Given the description of an element on the screen output the (x, y) to click on. 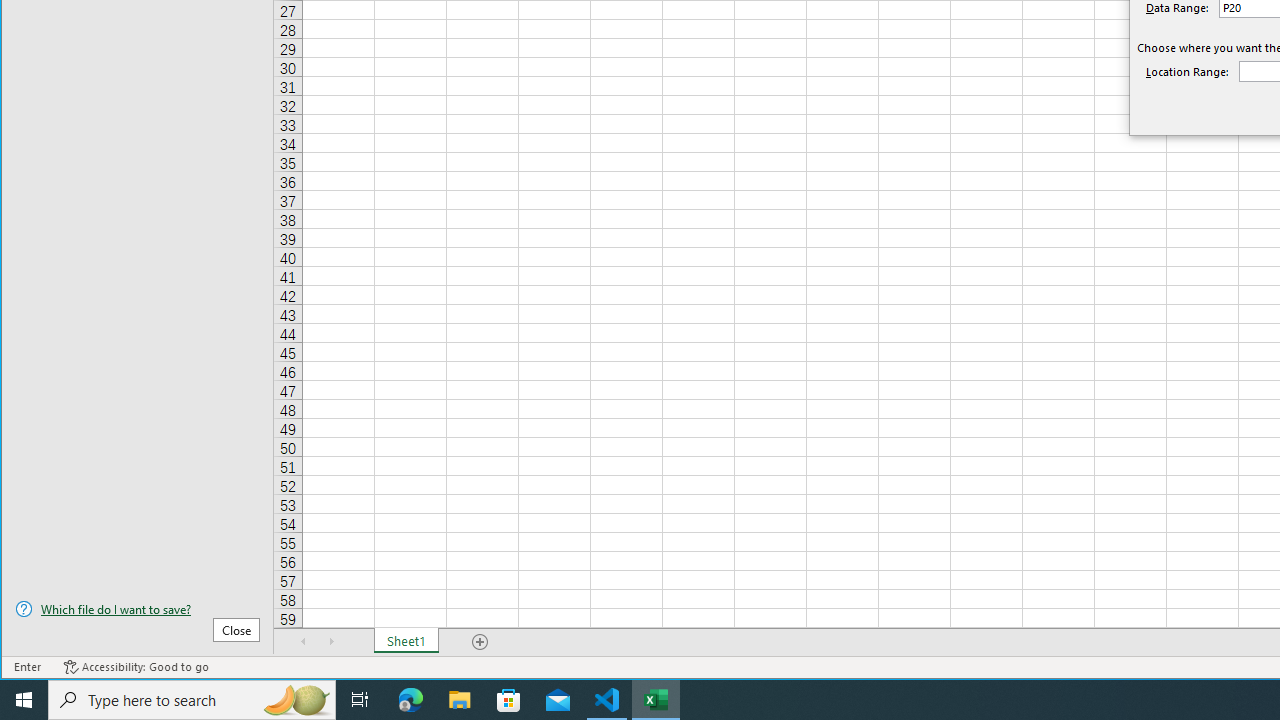
Which file do I want to save? (137, 609)
